Given the description of an element on the screen output the (x, y) to click on. 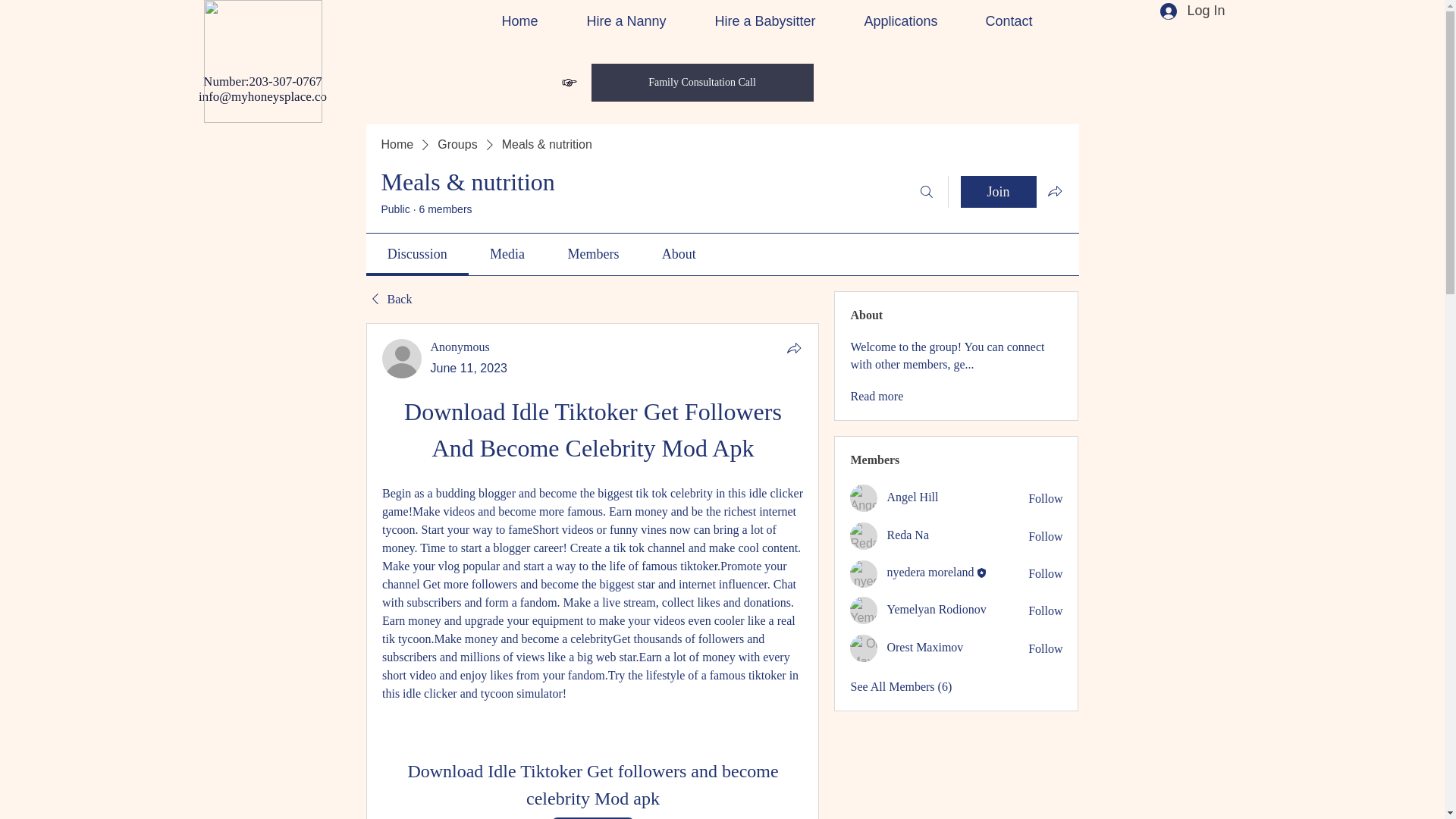
Anonymous (401, 358)
Reda Na (907, 534)
chocolate yellow minimalist honey bee lo (262, 61)
Groups (457, 144)
Contact (996, 21)
Hire a Babysitter (752, 21)
Follow (1044, 648)
Join (997, 192)
Reda Na (863, 535)
Hire a Nanny (612, 21)
